Given the description of an element on the screen output the (x, y) to click on. 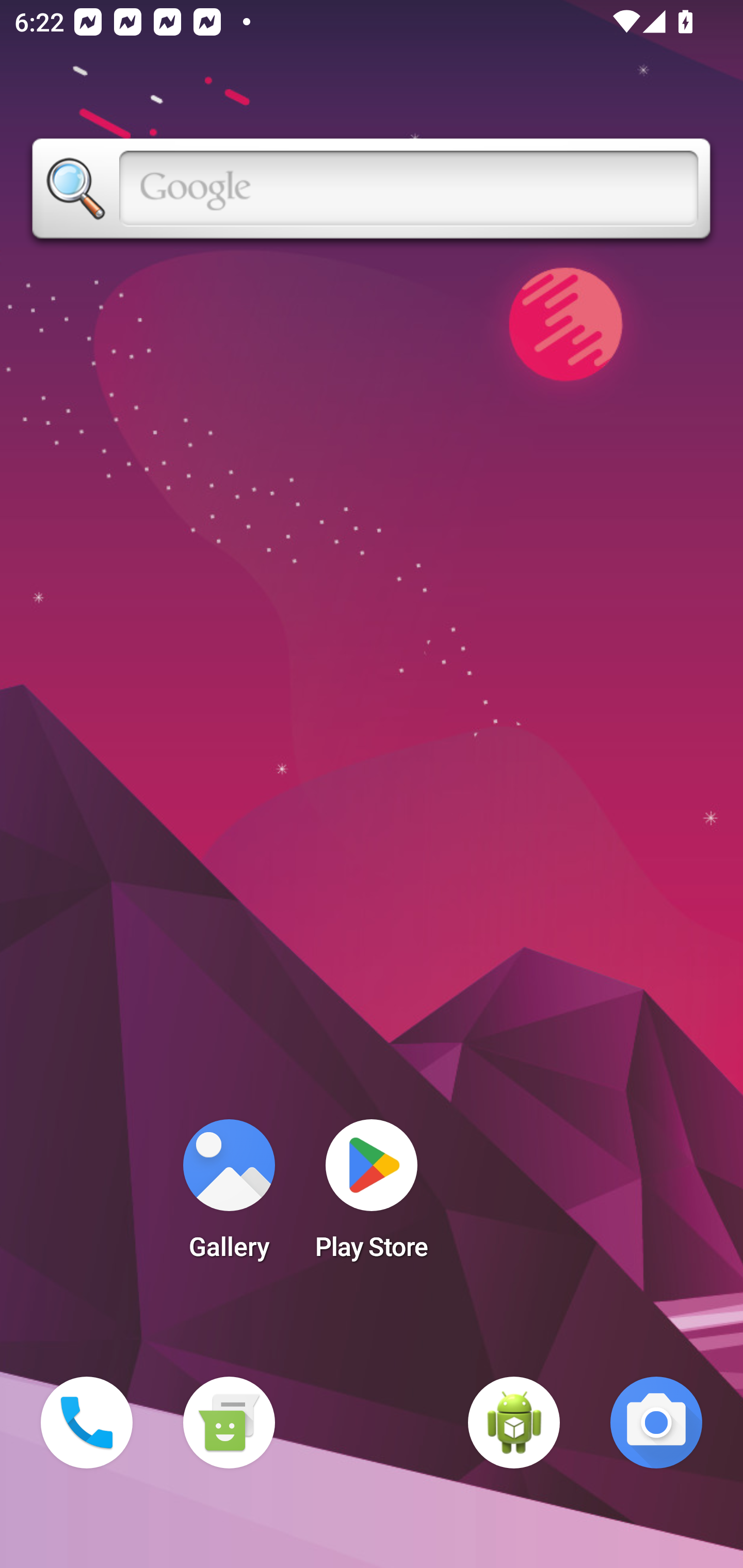
Gallery (228, 1195)
Play Store (371, 1195)
Phone (86, 1422)
Messaging (228, 1422)
WebView Browser Tester (513, 1422)
Camera (656, 1422)
